Given the description of an element on the screen output the (x, y) to click on. 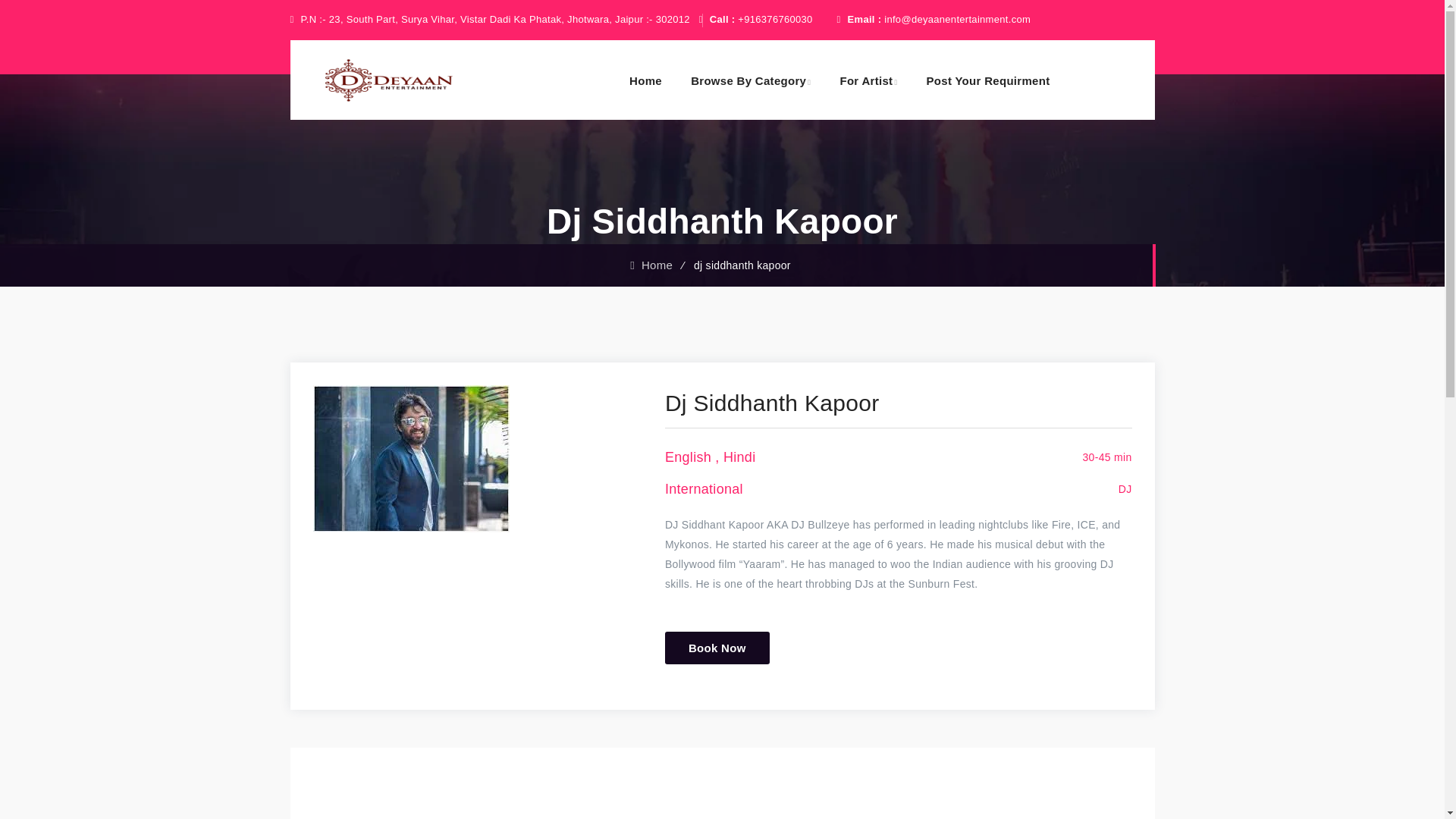
Homepage (651, 264)
Browse By Category (750, 78)
30-45 min (1107, 457)
Dyaan Entertainment (388, 78)
Post Your Requirment (987, 80)
  Home (651, 264)
DJ (1125, 489)
Book Now (717, 647)
